Given the description of an element on the screen output the (x, y) to click on. 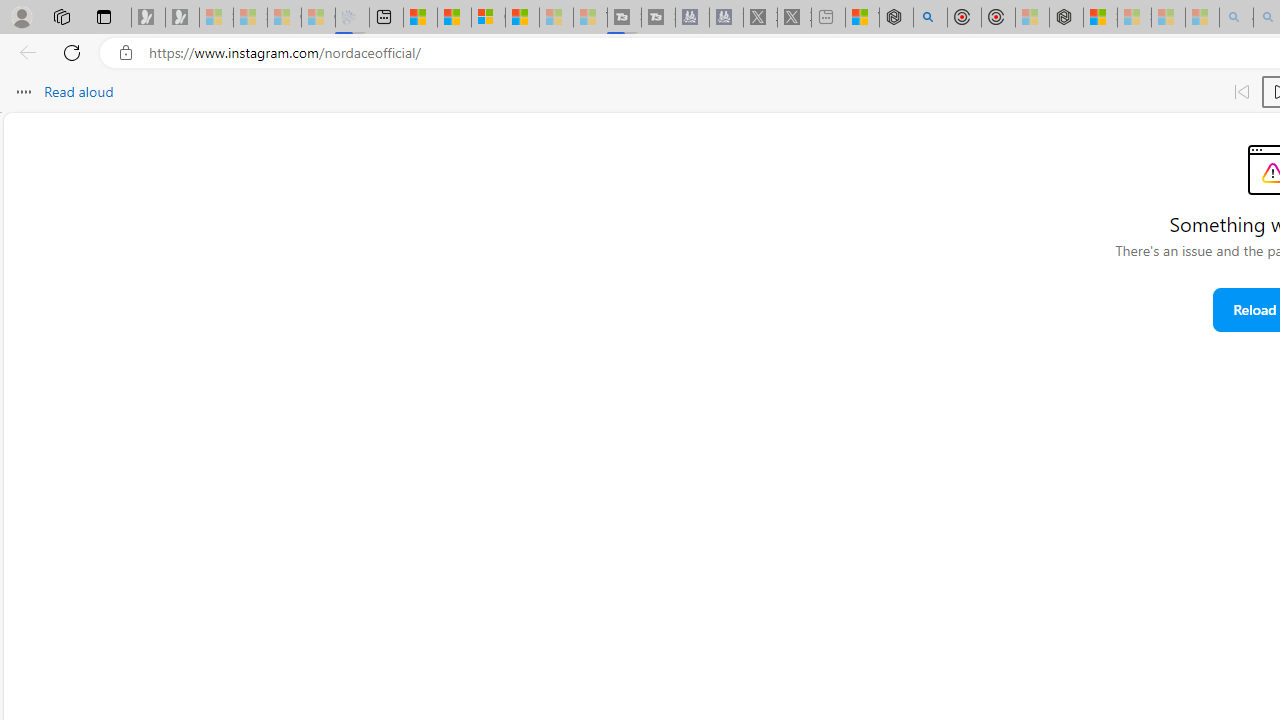
Newsletter Sign Up - Sleeping (182, 17)
Nordace - Summer Adventures 2024 (895, 17)
amazon - Search - Sleeping (1236, 17)
poe - Search (930, 17)
X - Sleeping (794, 17)
